Given the description of an element on the screen output the (x, y) to click on. 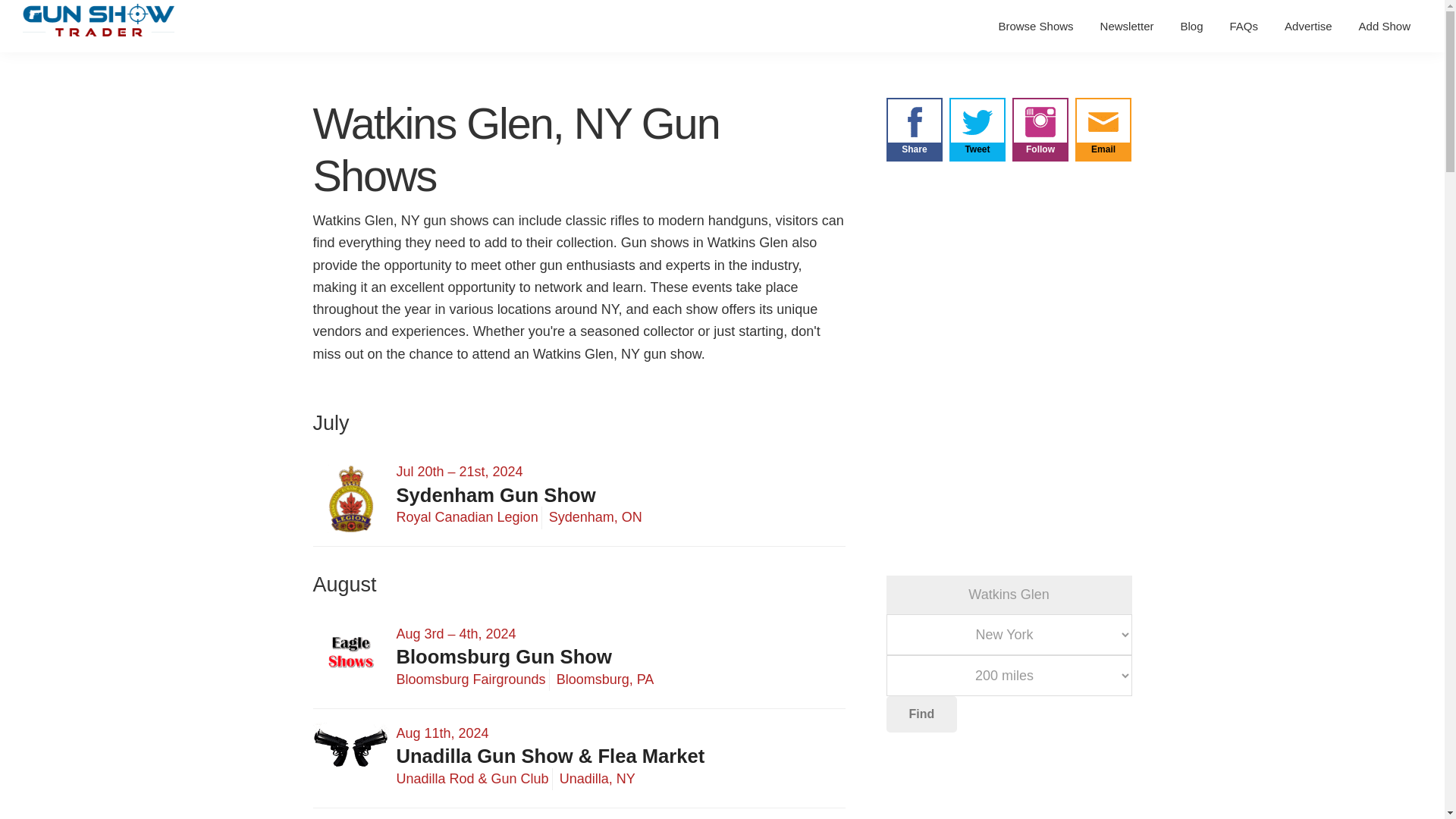
FAQs (1243, 25)
Newsletter (1127, 25)
Find (920, 714)
Share (913, 142)
Blog (1191, 25)
Watkins Glen (1008, 594)
Browse Shows (1035, 25)
Advertise (1307, 25)
Add Show (1385, 25)
